Given the description of an element on the screen output the (x, y) to click on. 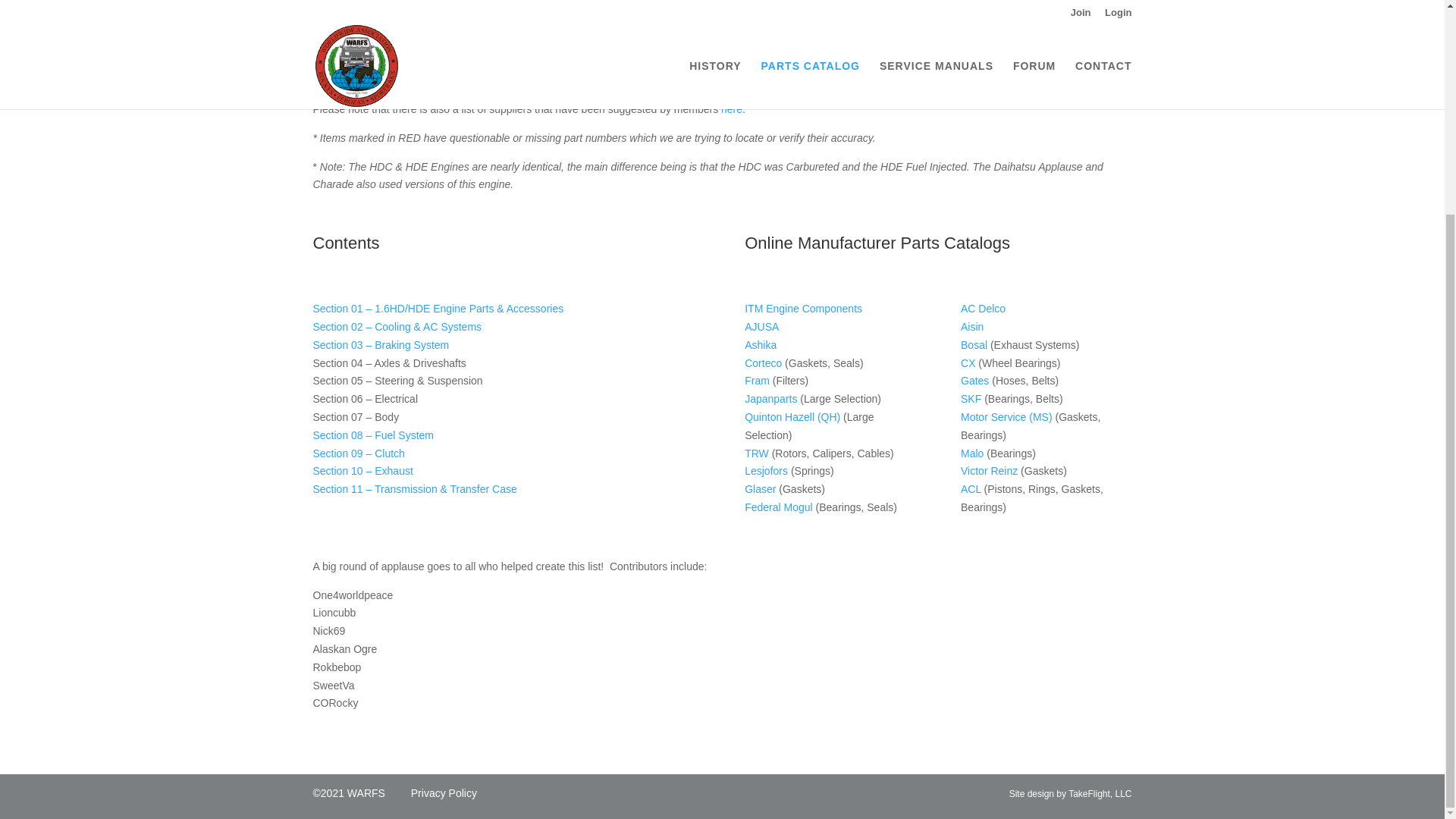
Japanparts (770, 398)
ITM Engine Components (802, 308)
Federal Mogul (778, 507)
CX (967, 363)
TRW (756, 453)
Glaser (760, 489)
here (731, 109)
Fram (757, 380)
Aisin (972, 326)
Gates (974, 380)
